Given the description of an element on the screen output the (x, y) to click on. 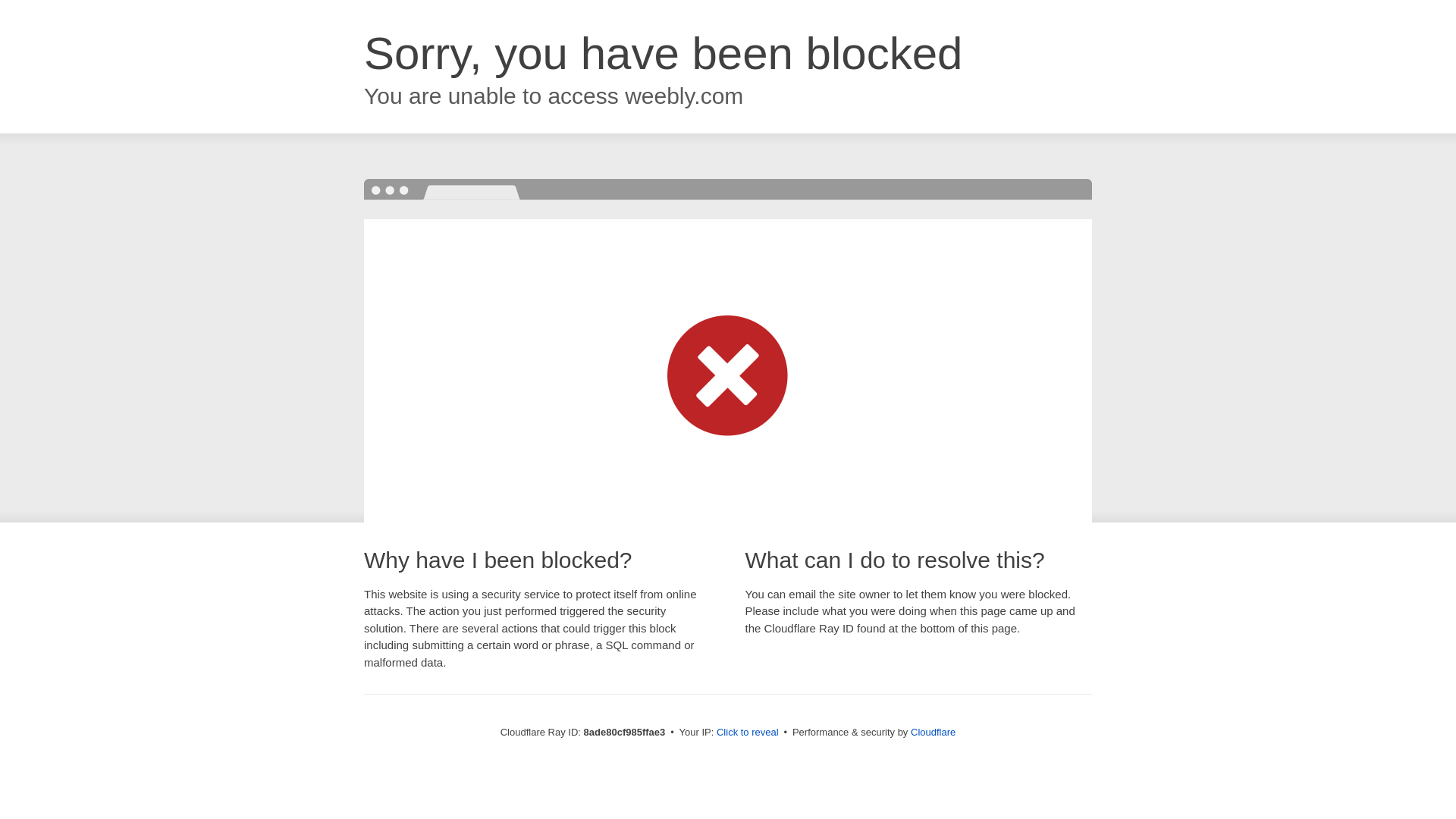
Click to reveal (747, 732)
Cloudflare (933, 731)
